Given the description of an element on the screen output the (x, y) to click on. 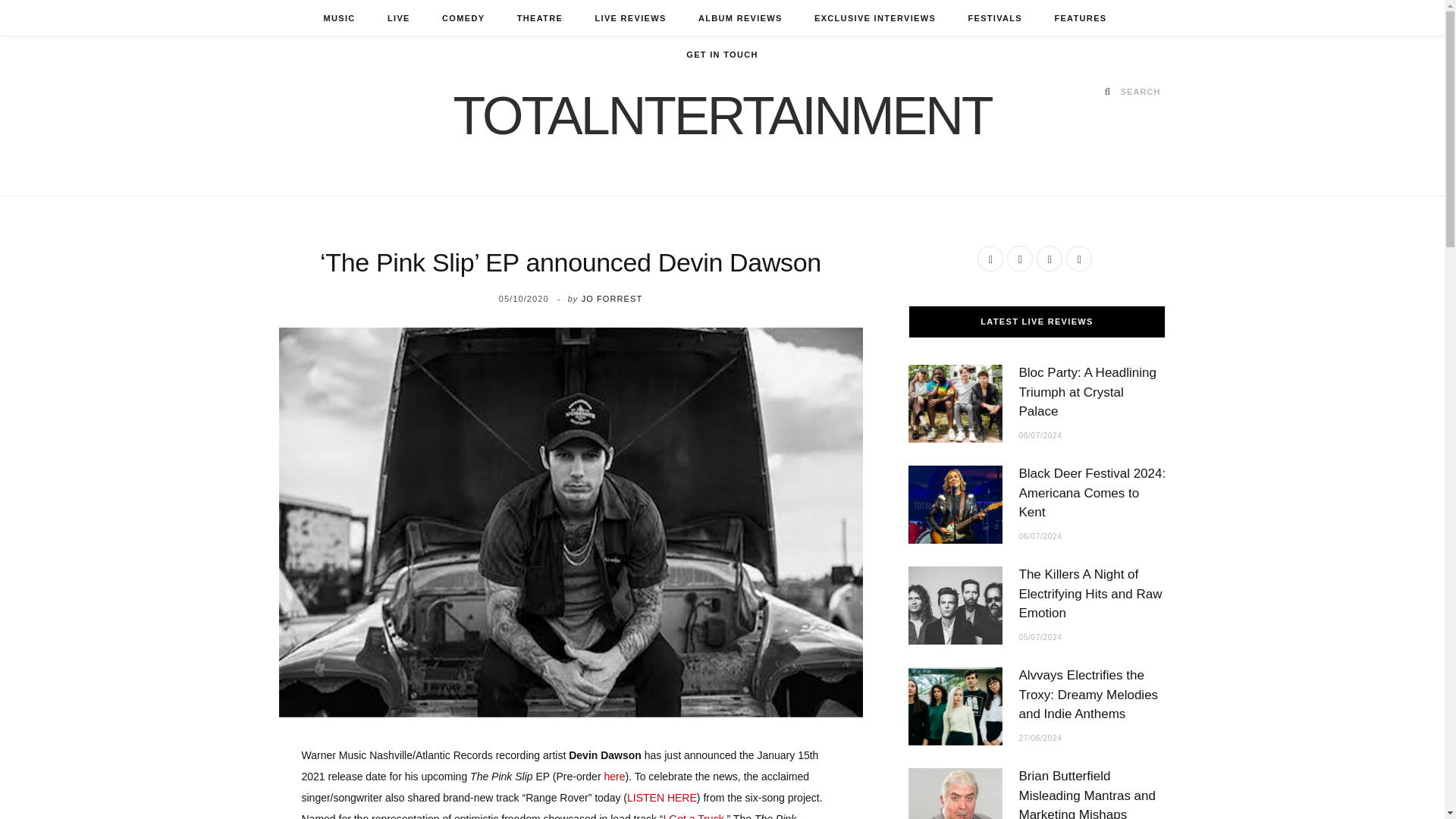
Posts by Jo Forrest (611, 298)
ALBUM REVIEWS (740, 18)
EXCLUSIVE INTERVIEWS (874, 18)
FEATURES (1080, 18)
THEATRE (539, 18)
I Got a Truck (692, 816)
here (614, 776)
LIVE (398, 18)
LIVE REVIEWS (629, 18)
TOTALNTERTAINMENT (721, 115)
JO FORREST (611, 298)
FESTIVALS (994, 18)
MUSIC (338, 18)
LISTEN HERE (662, 797)
TotalNtertainment (721, 115)
